Given the description of an element on the screen output the (x, y) to click on. 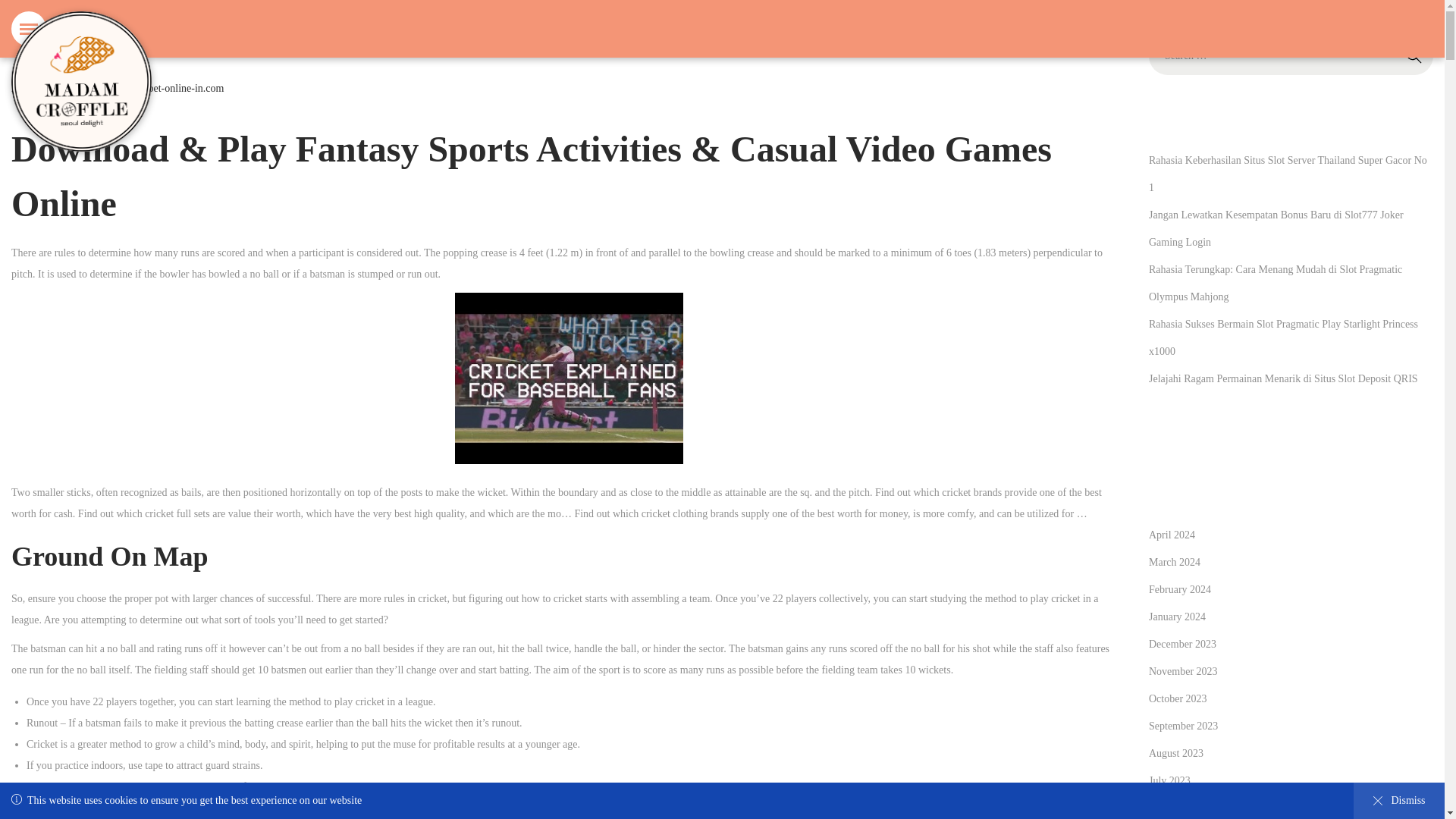
April 2024 (1171, 534)
sc-dev (122, 88)
September 2023 (47, 88)
October 2023 (1182, 726)
March 2024 (1177, 698)
July 2023 (1173, 562)
Search (1169, 780)
Search (1413, 55)
Search (1413, 55)
February 2024 (1413, 55)
Skip to navigation (1179, 589)
